Given the description of an element on the screen output the (x, y) to click on. 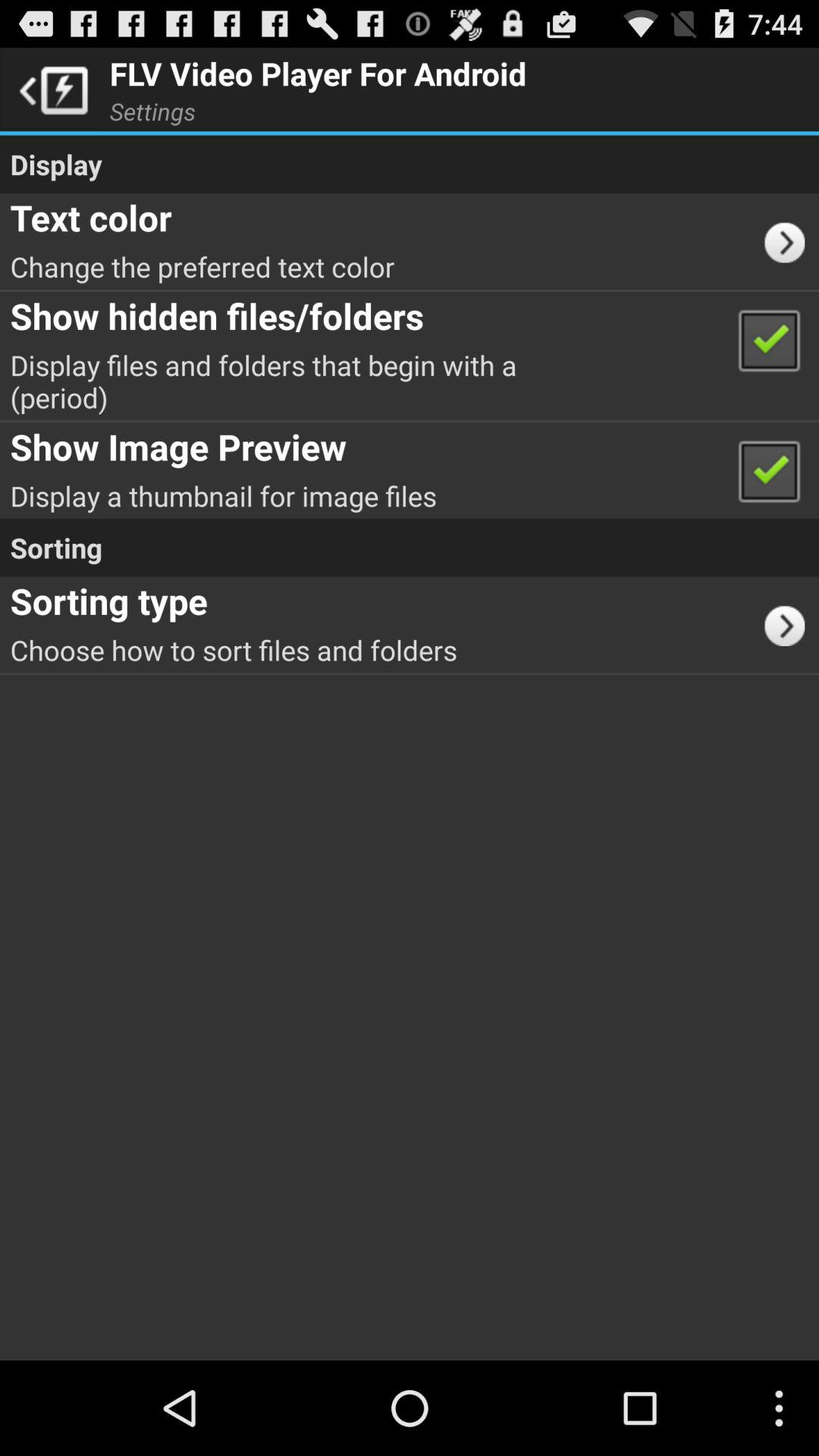
turn off item next to flv video player (49, 89)
